Given the description of an element on the screen output the (x, y) to click on. 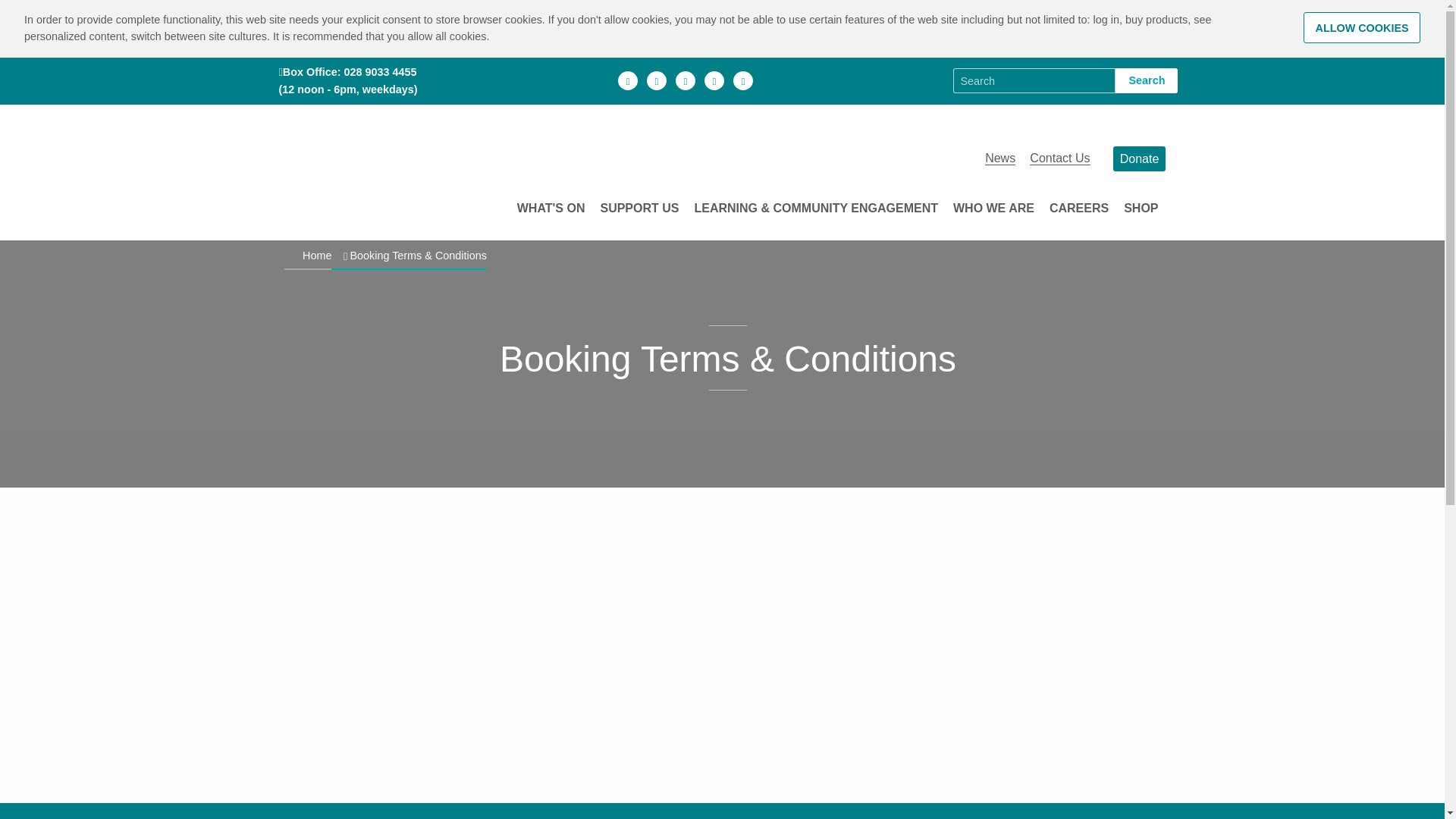
HOME (381, 157)
YouTube (742, 80)
Home (381, 157)
YouTube (742, 80)
Donate (1139, 158)
Facebook (627, 80)
Search (1146, 79)
Allow cookies (1362, 27)
Spotify (713, 80)
News (999, 158)
